Given the description of an element on the screen output the (x, y) to click on. 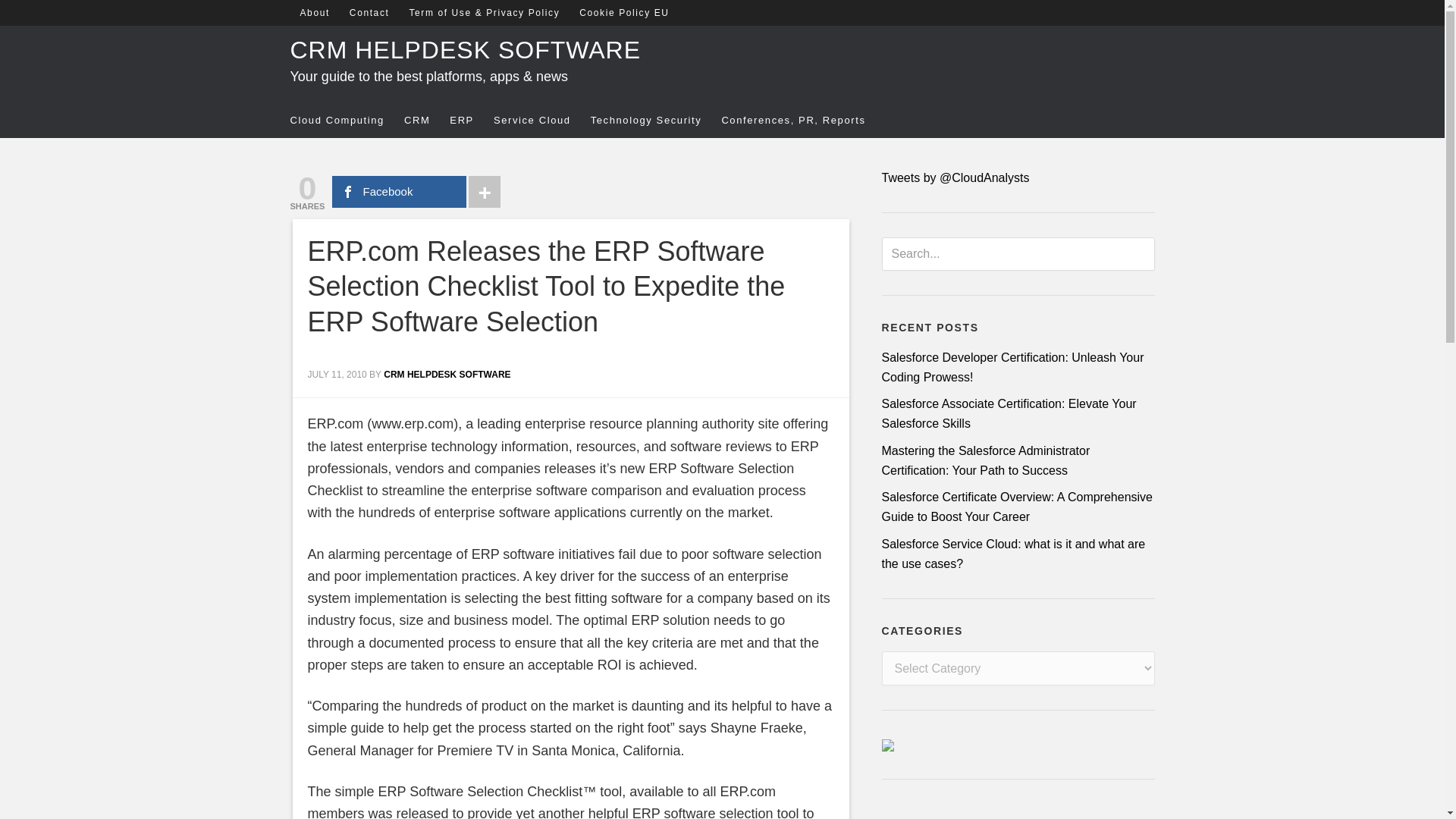
CRM HELPDESK SOFTWARE (447, 374)
Cookie Policy EU (623, 12)
Facebook (398, 192)
CRM HELPDESK SOFTWARE (464, 49)
CRM (426, 120)
Technology Security (656, 120)
About (314, 12)
Cloud Computing (346, 120)
Service Cloud (542, 120)
ERP (471, 120)
Contact (368, 12)
Conferences, PR, Reports (802, 120)
